Given the description of an element on the screen output the (x, y) to click on. 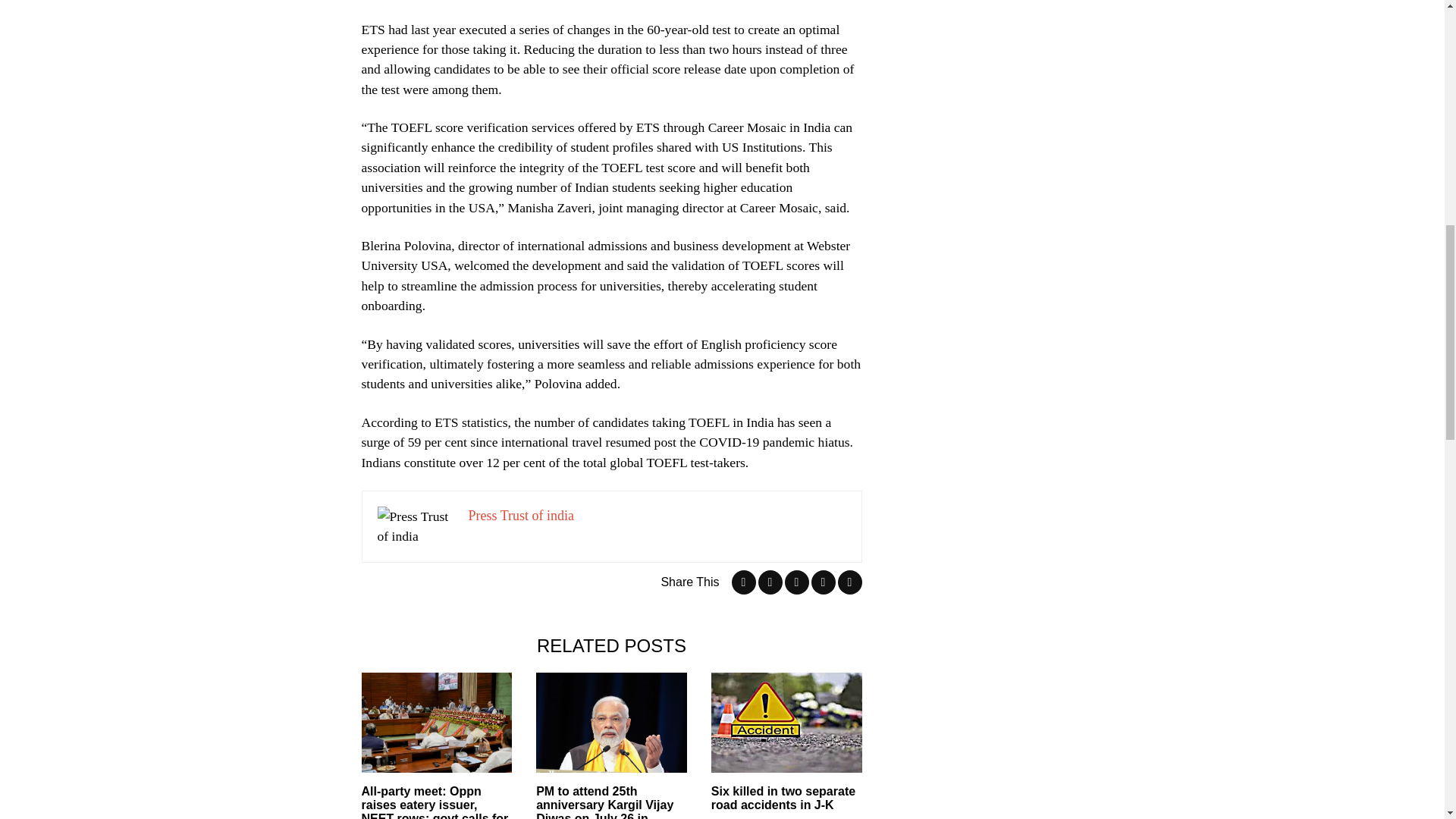
22 Jul, 2024 00:21:33 (742, 818)
Press Trust of india (521, 515)
